Given the description of an element on the screen output the (x, y) to click on. 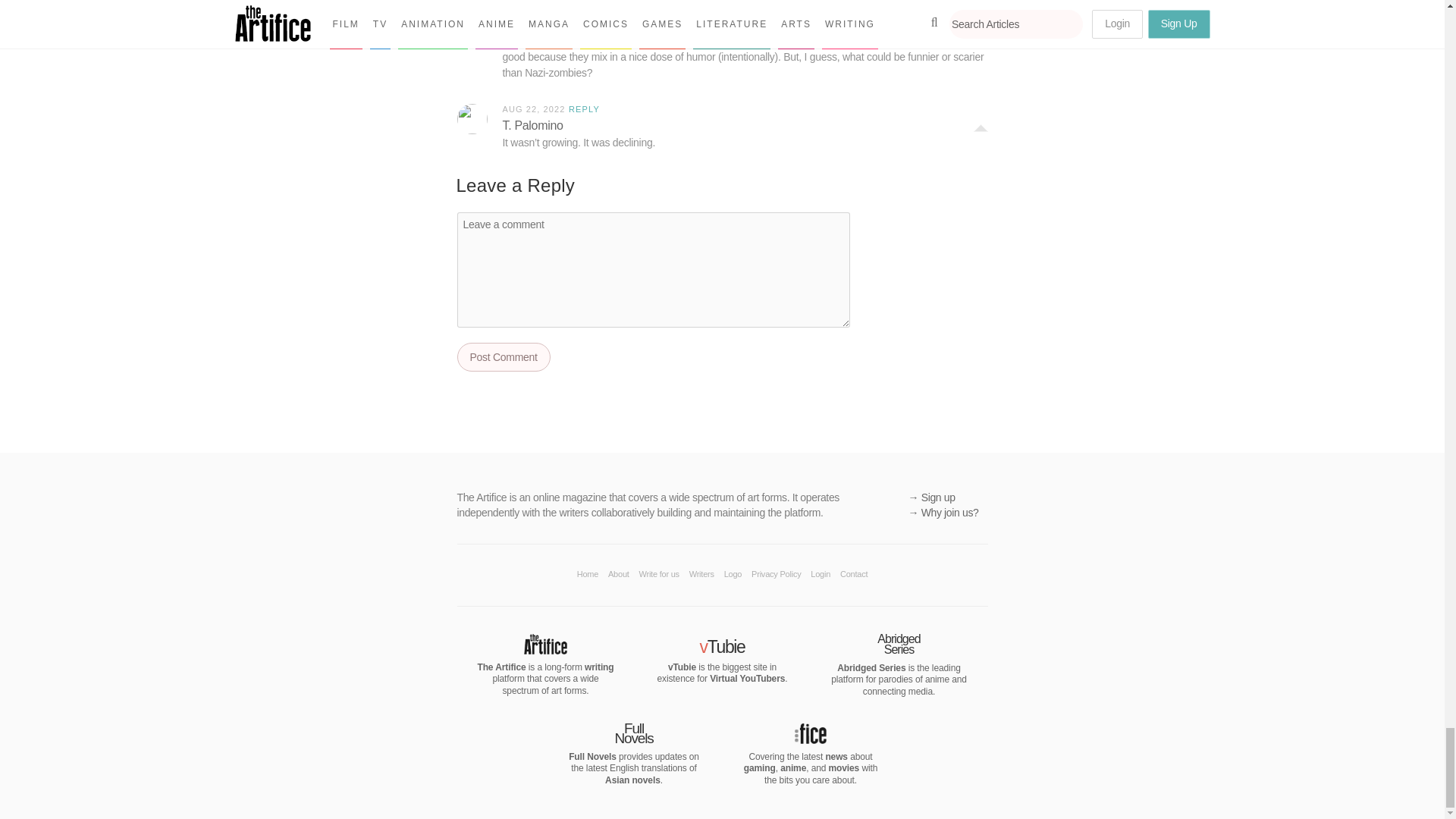
Post Comment (503, 357)
